Given the description of an element on the screen output the (x, y) to click on. 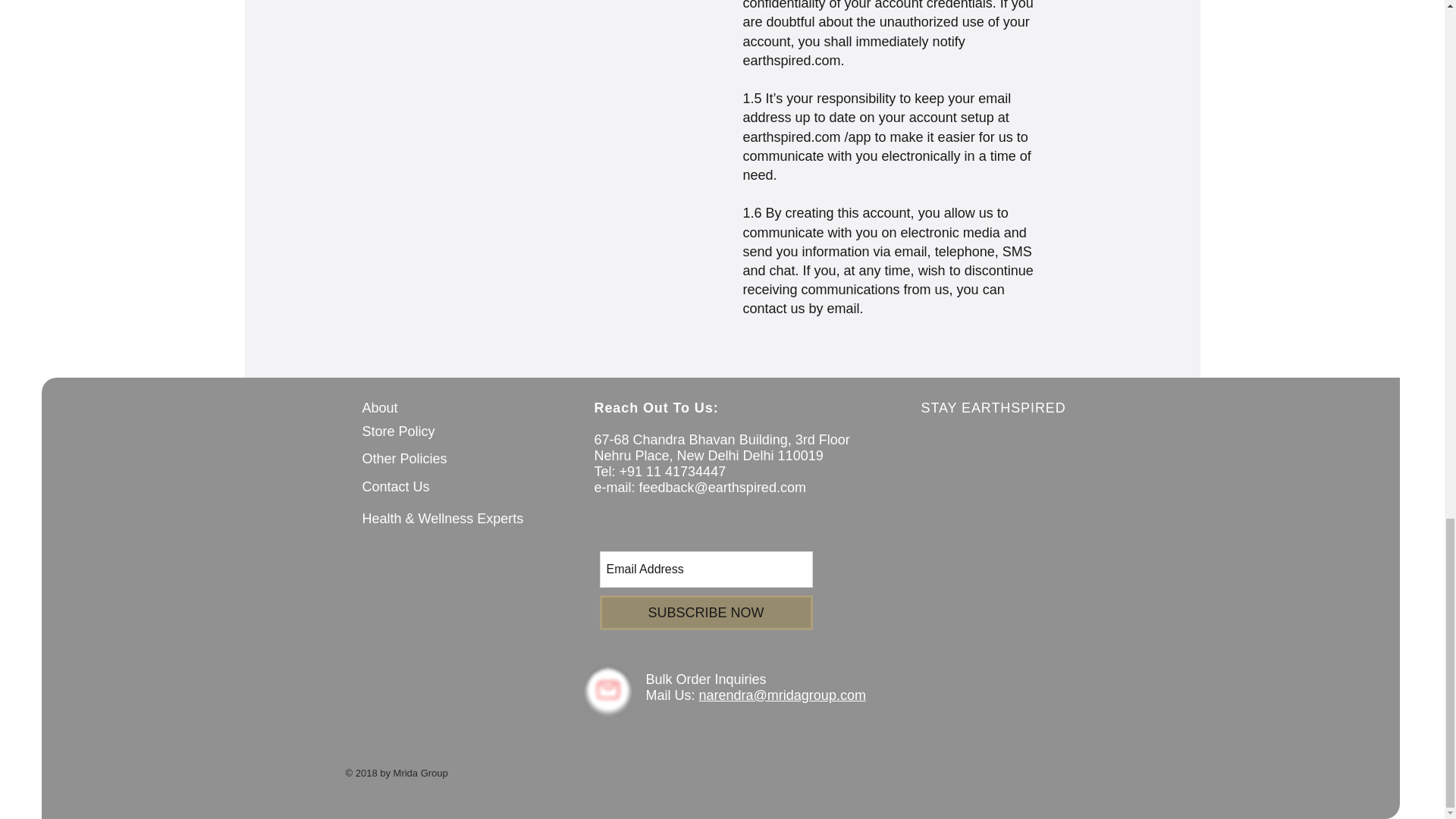
Other Policies (404, 458)
About (379, 407)
SUBSCRIBE NOW (705, 612)
Contact Us (395, 486)
Store Policy (398, 431)
